Given the description of an element on the screen output the (x, y) to click on. 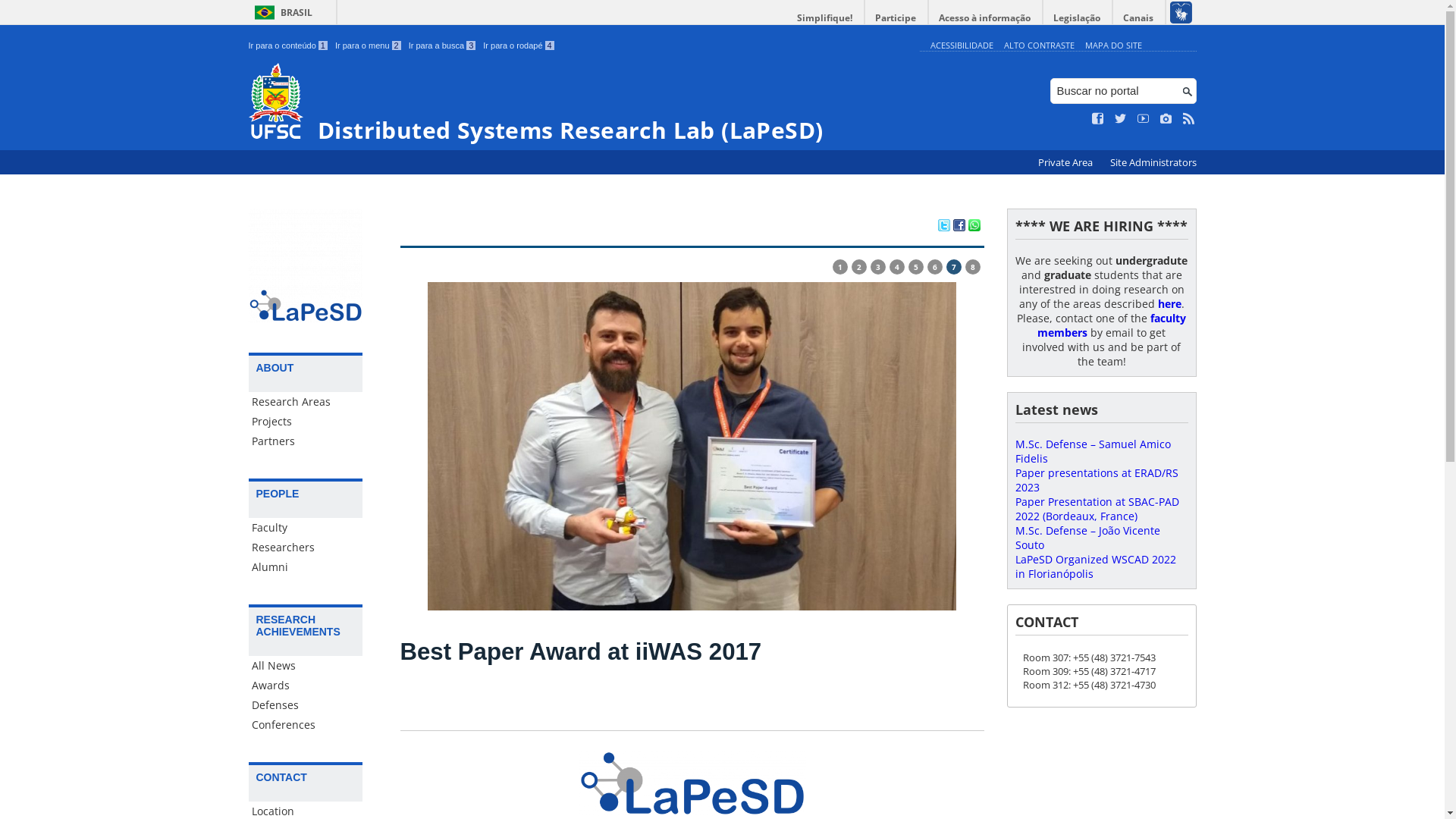
Curta no Facebook Element type: hover (1098, 118)
Simplifique! Element type: text (825, 18)
Ir para o menu 2 Element type: text (368, 45)
Best Paper Award at iiWAS 2017 Element type: text (581, 651)
3 Element type: text (877, 266)
2 Element type: text (858, 266)
Private Area Element type: text (1065, 162)
Compartilhar no Facebook Element type: hover (958, 226)
Researchers Element type: text (305, 547)
Canais Element type: text (1138, 18)
Paper Presentation at SBAC-PAD 2022 (Bordeaux, France) Element type: text (1096, 508)
Awards Element type: text (305, 685)
Compartilhar no Twitter Element type: hover (943, 226)
Defenses Element type: text (305, 705)
8 Element type: text (971, 266)
Compartilhar no WhatsApp Element type: hover (973, 226)
7 Element type: text (953, 266)
here Element type: text (1168, 303)
Site Administrators Element type: text (1153, 162)
Conferences Element type: text (305, 724)
All News Element type: text (305, 665)
faculty members Element type: text (1111, 324)
ALTO CONTRASTE Element type: text (1039, 44)
Paper presentations at ERAD/RS 2023 Element type: text (1095, 479)
MAPA DO SITE Element type: text (1112, 44)
Partners Element type: text (305, 441)
Siga no Twitter Element type: hover (1120, 118)
Alumni Element type: text (305, 567)
Distributed Systems Research Lab (LaPeSD) Element type: text (580, 102)
5 Element type: text (915, 266)
1 Element type: text (839, 266)
4 Element type: text (895, 266)
Faculty Element type: text (305, 527)
BRASIL Element type: text (280, 12)
Projects Element type: text (305, 421)
6 Element type: text (933, 266)
Research Areas Element type: text (305, 401)
Ir para a busca 3 Element type: text (442, 45)
Participe Element type: text (895, 18)
ACESSIBILIDADE Element type: text (960, 44)
Veja no Instagram Element type: hover (1166, 118)
